Given the description of an element on the screen output the (x, y) to click on. 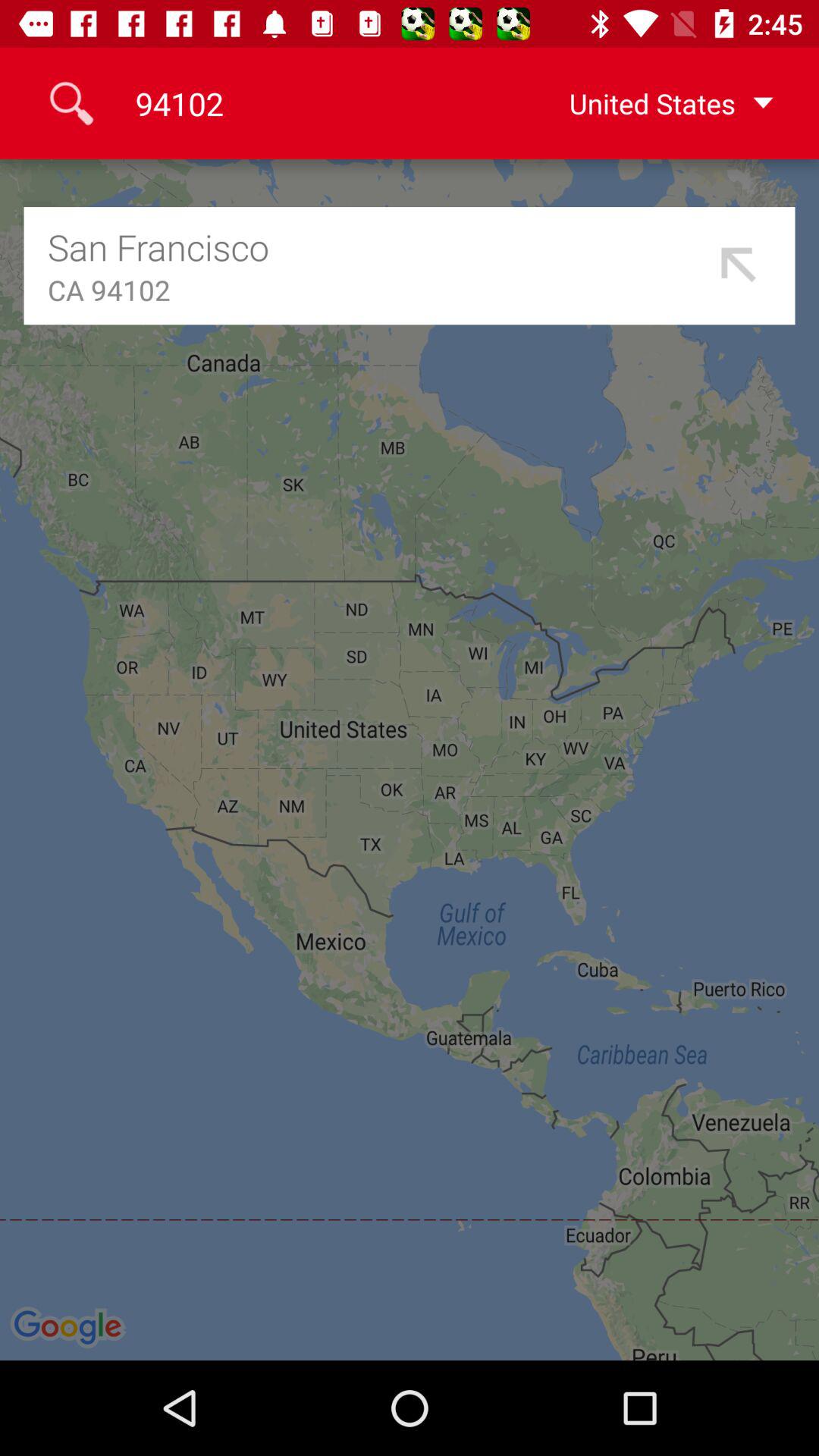
scroll until united states item (647, 103)
